Given the description of an element on the screen output the (x, y) to click on. 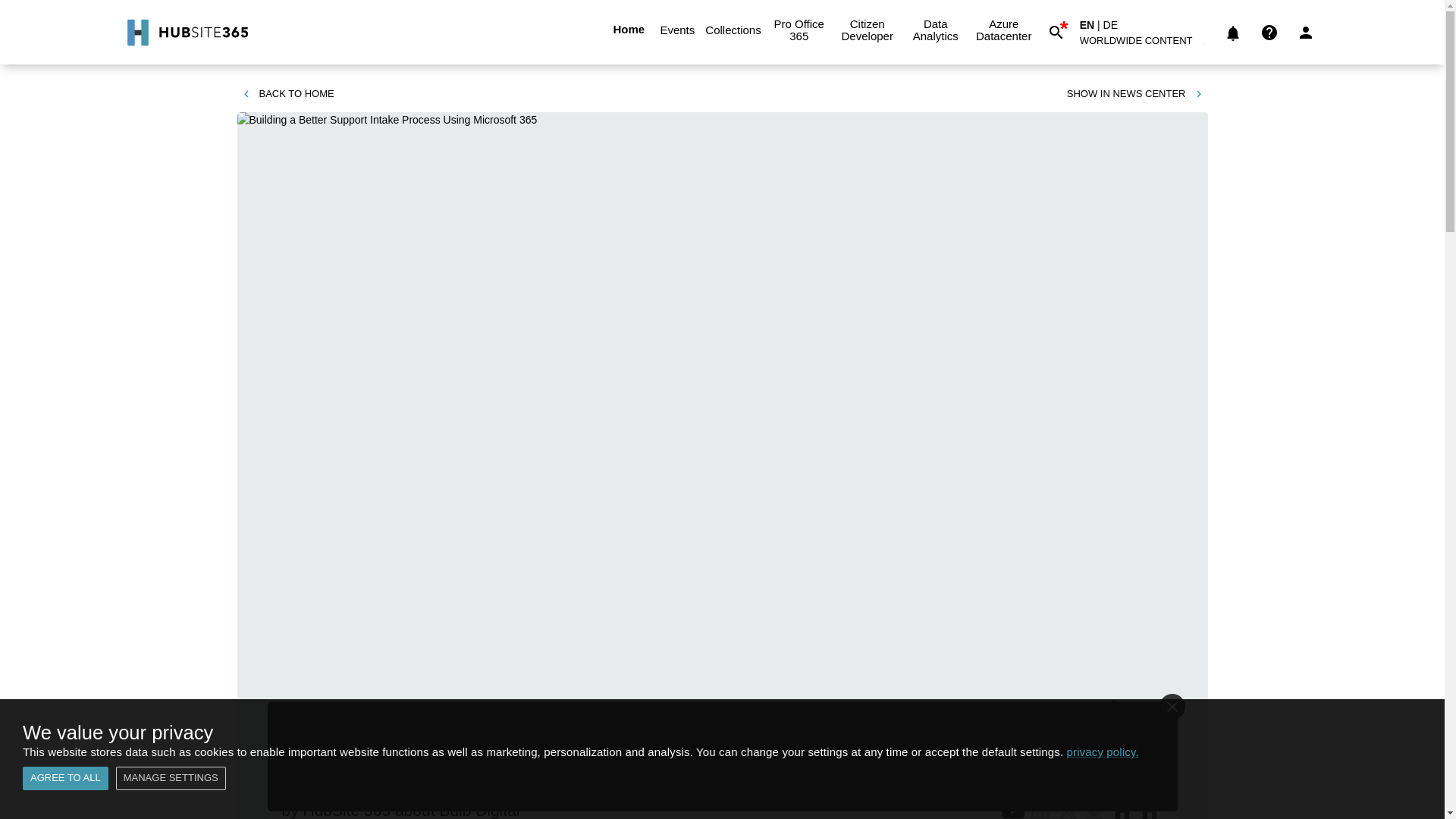
Pro Office 365 (798, 29)
BACK TO HOME (286, 94)
Events (676, 29)
Collections (732, 29)
SHARE (1137, 708)
Data Analytics (935, 29)
Home (628, 28)
Azure Datacenter (1003, 29)
SHOW IN NEWS CENTER (1135, 94)
Citizen Developer (866, 29)
